Given the description of an element on the screen output the (x, y) to click on. 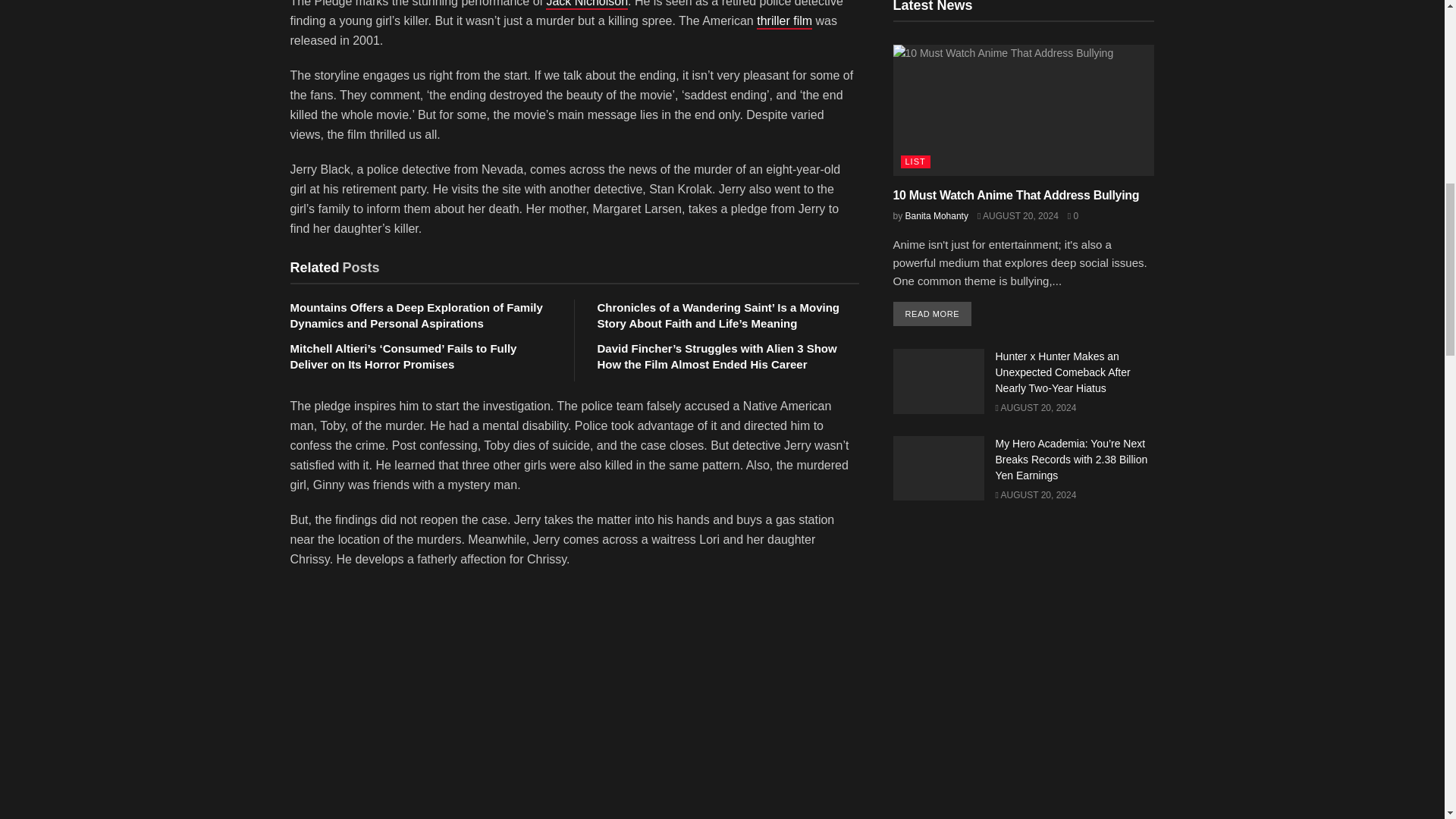
Jack Nicholson (586, 4)
thriller film (784, 21)
